Given the description of an element on the screen output the (x, y) to click on. 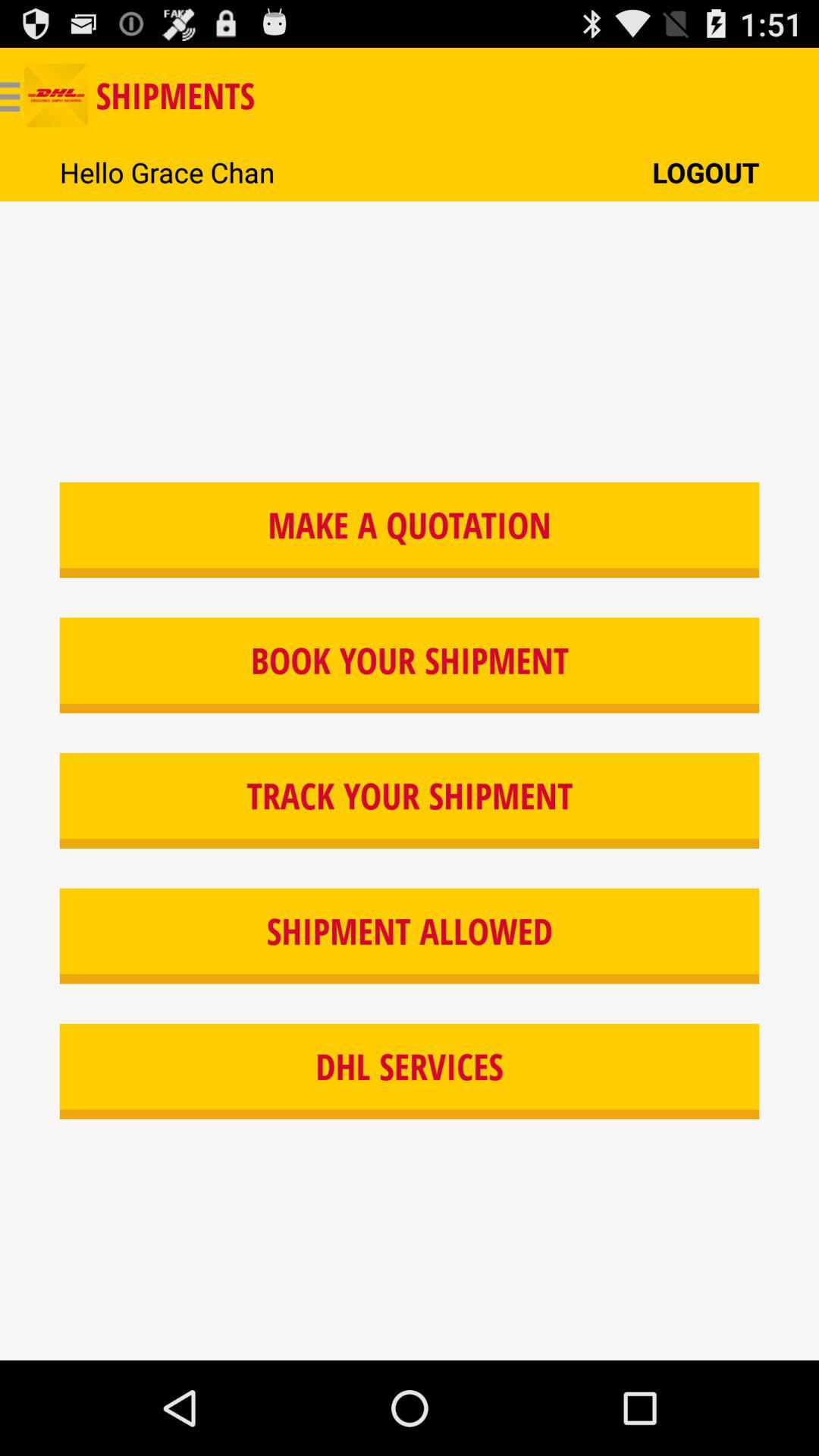
launch the item below shipment allowed button (409, 1071)
